Given the description of an element on the screen output the (x, y) to click on. 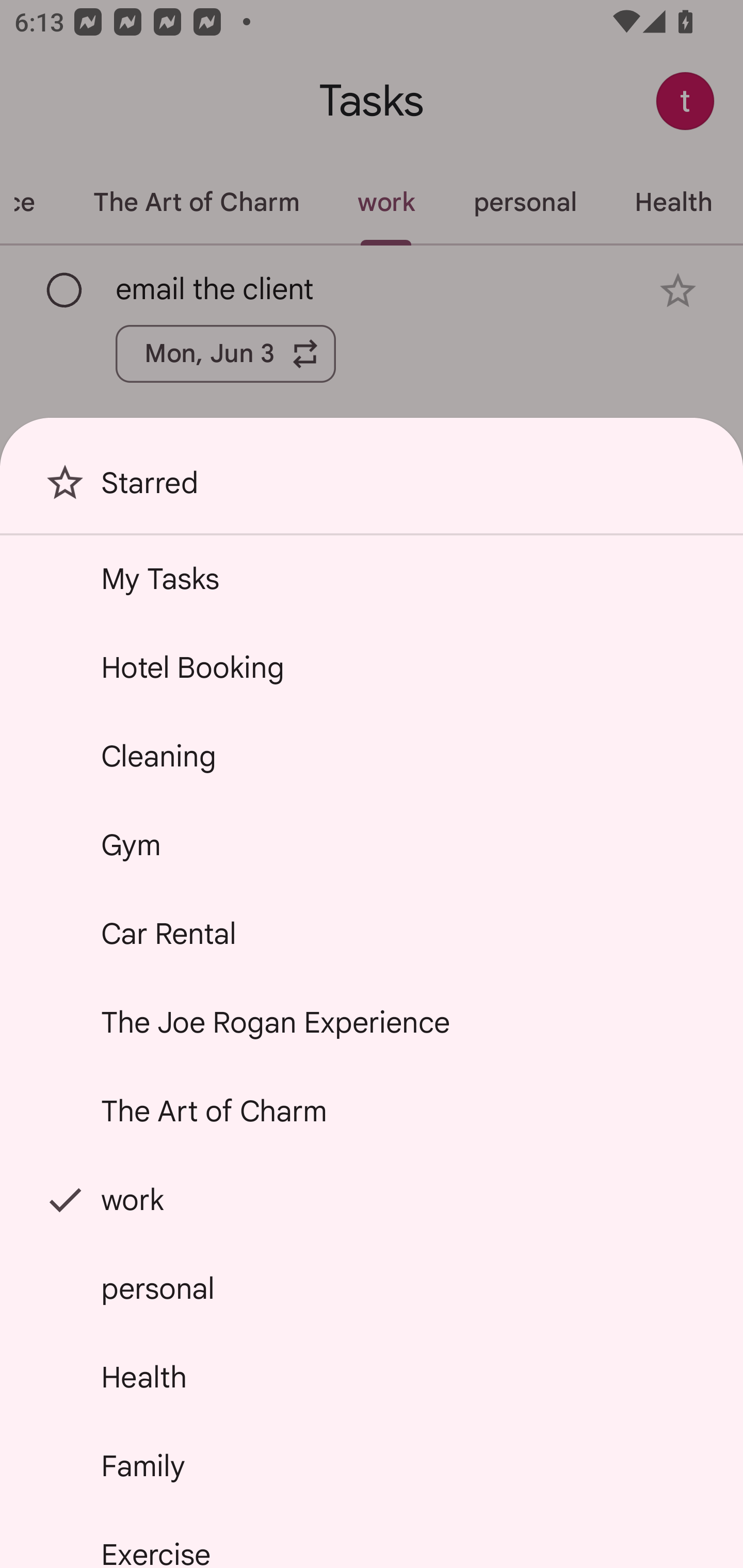
Starred (371, 489)
My Tasks (371, 578)
Hotel Booking (371, 667)
Cleaning (371, 756)
Gym (371, 844)
Car Rental (371, 933)
The Joe Rogan Experience (371, 1022)
The Art of Charm (371, 1110)
work (371, 1200)
personal (371, 1287)
Health (371, 1377)
Family (371, 1465)
Exercise (371, 1539)
